Given the description of an element on the screen output the (x, y) to click on. 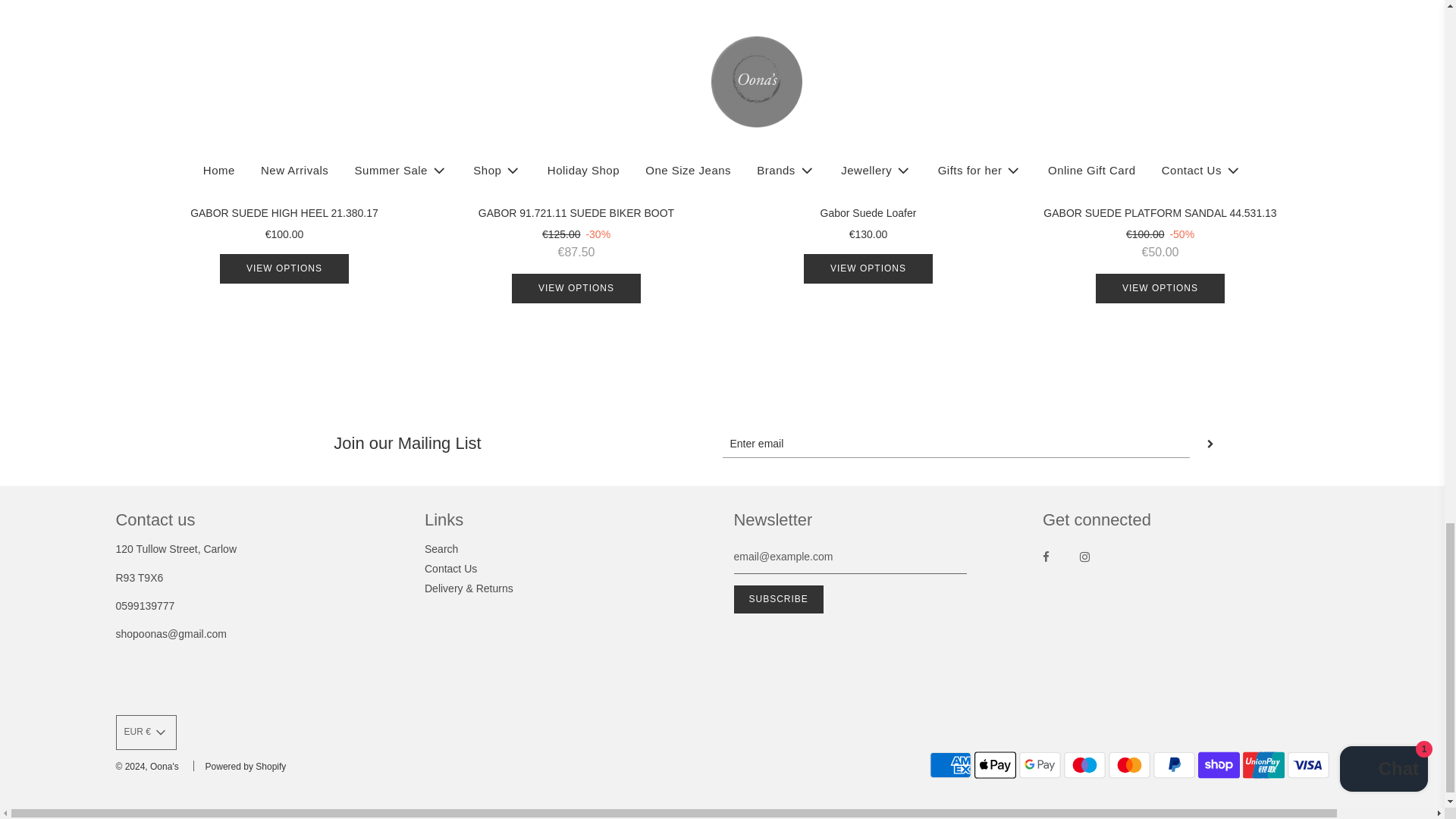
Mastercard (1129, 765)
GABOR SUEDE PLATFORM SANDAL 44.531.13 (1159, 96)
Gabor Suede Loafer (868, 96)
GABOR 91.721.11 SUEDE BIKER BOOT (575, 96)
Maestro (1084, 765)
Subscribe (778, 599)
PayPal (1174, 765)
GABOR SUEDE HIGH HEEL 21.380.17 (284, 96)
Apple Pay (995, 765)
American Express (950, 765)
Google Pay (1040, 765)
